Given the description of an element on the screen output the (x, y) to click on. 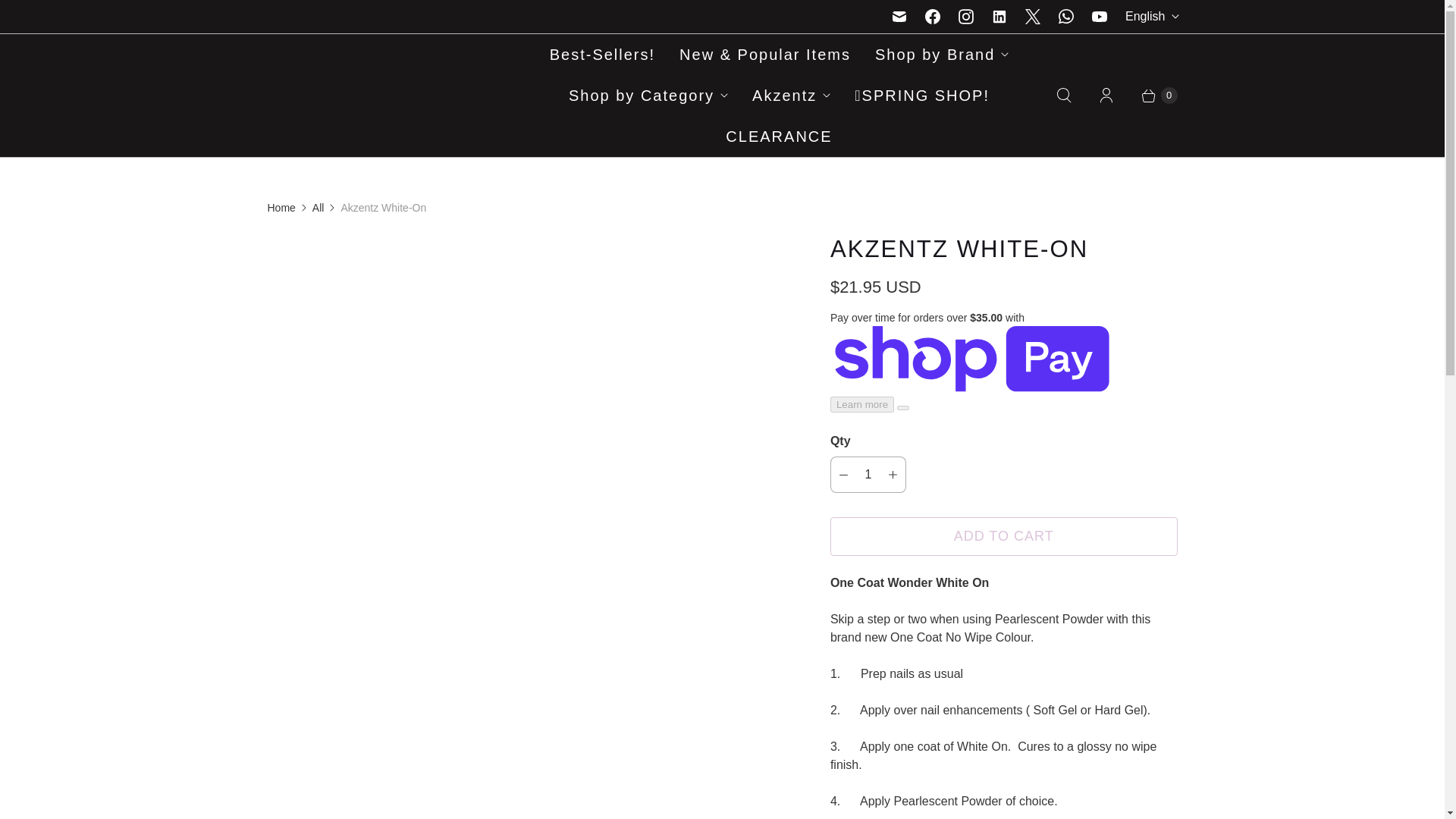
1 (868, 474)
English (1151, 16)
Best-Sellers! (601, 54)
